Given the description of an element on the screen output the (x, y) to click on. 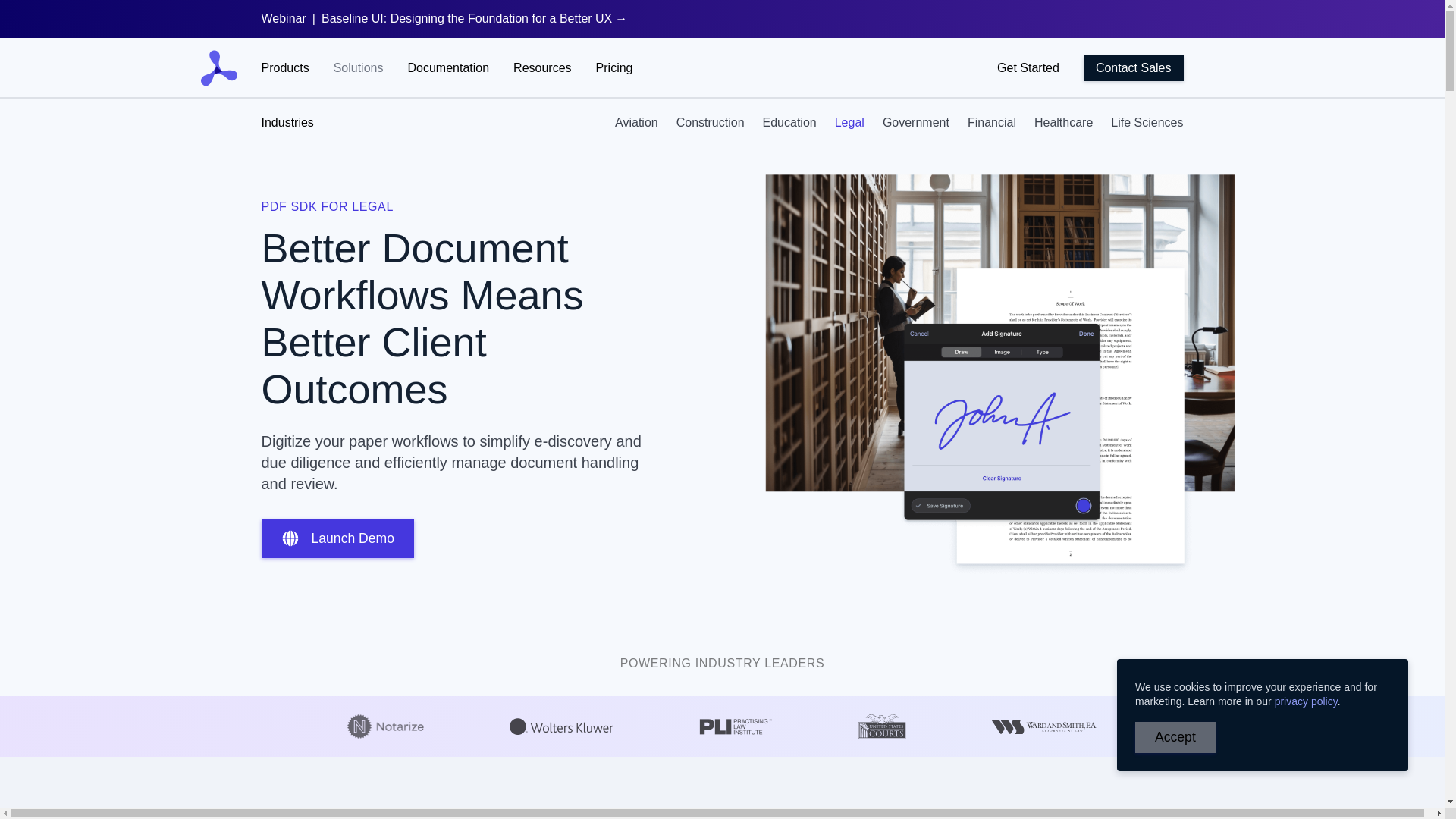
Products (284, 67)
WebinarBaseline UI: Designing the Foundation for a Better UX (443, 18)
